Given the description of an element on the screen output the (x, y) to click on. 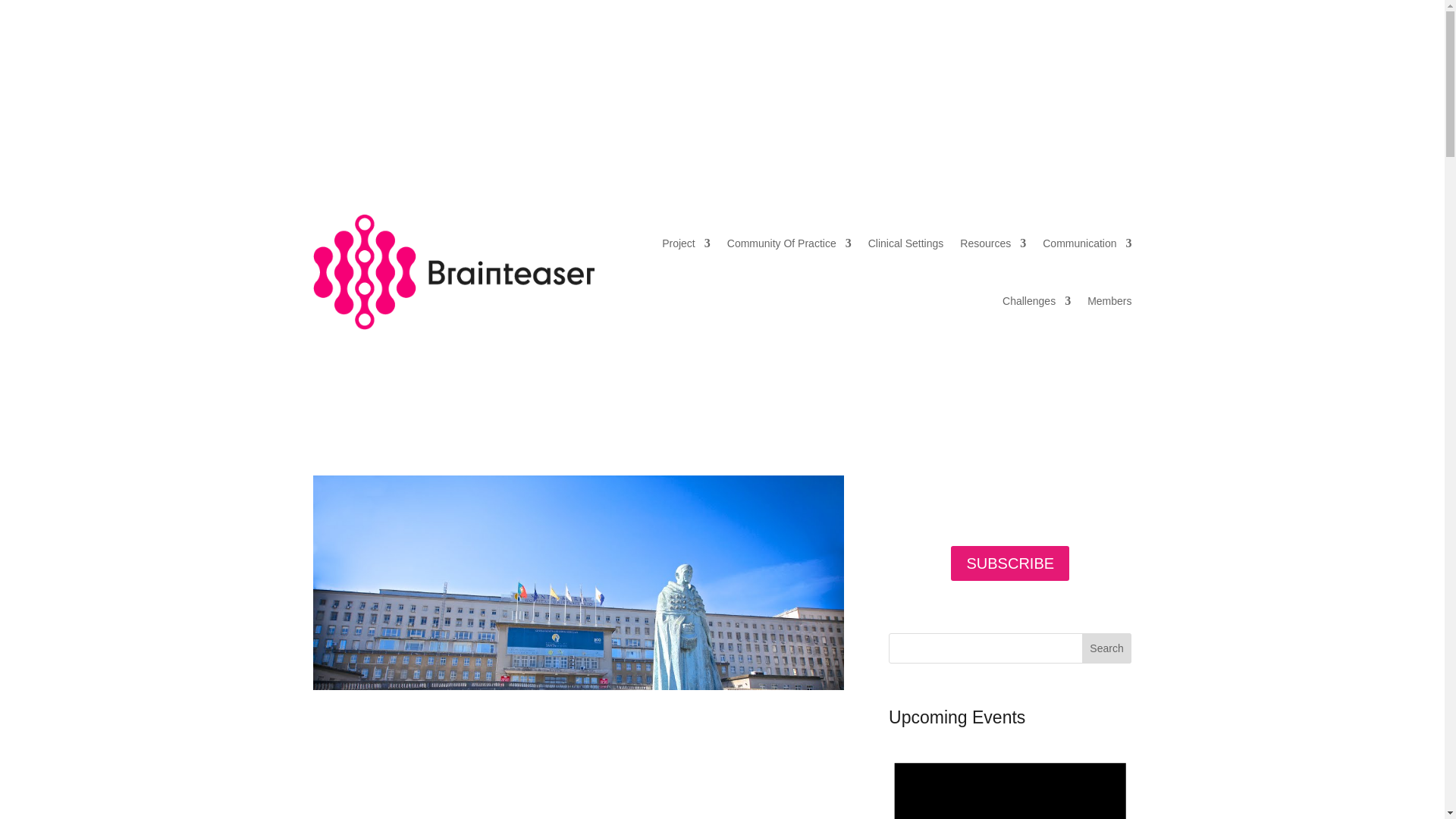
Search (1106, 648)
Communication (1086, 242)
Challenges (1036, 300)
Follow on LinkedIn (1088, 73)
Clinical Settings (905, 242)
Community Of Practice (788, 242)
SUBSCRIBE (1009, 563)
Search (1106, 648)
Resources (992, 242)
Follow on X (1118, 73)
